Given the description of an element on the screen output the (x, y) to click on. 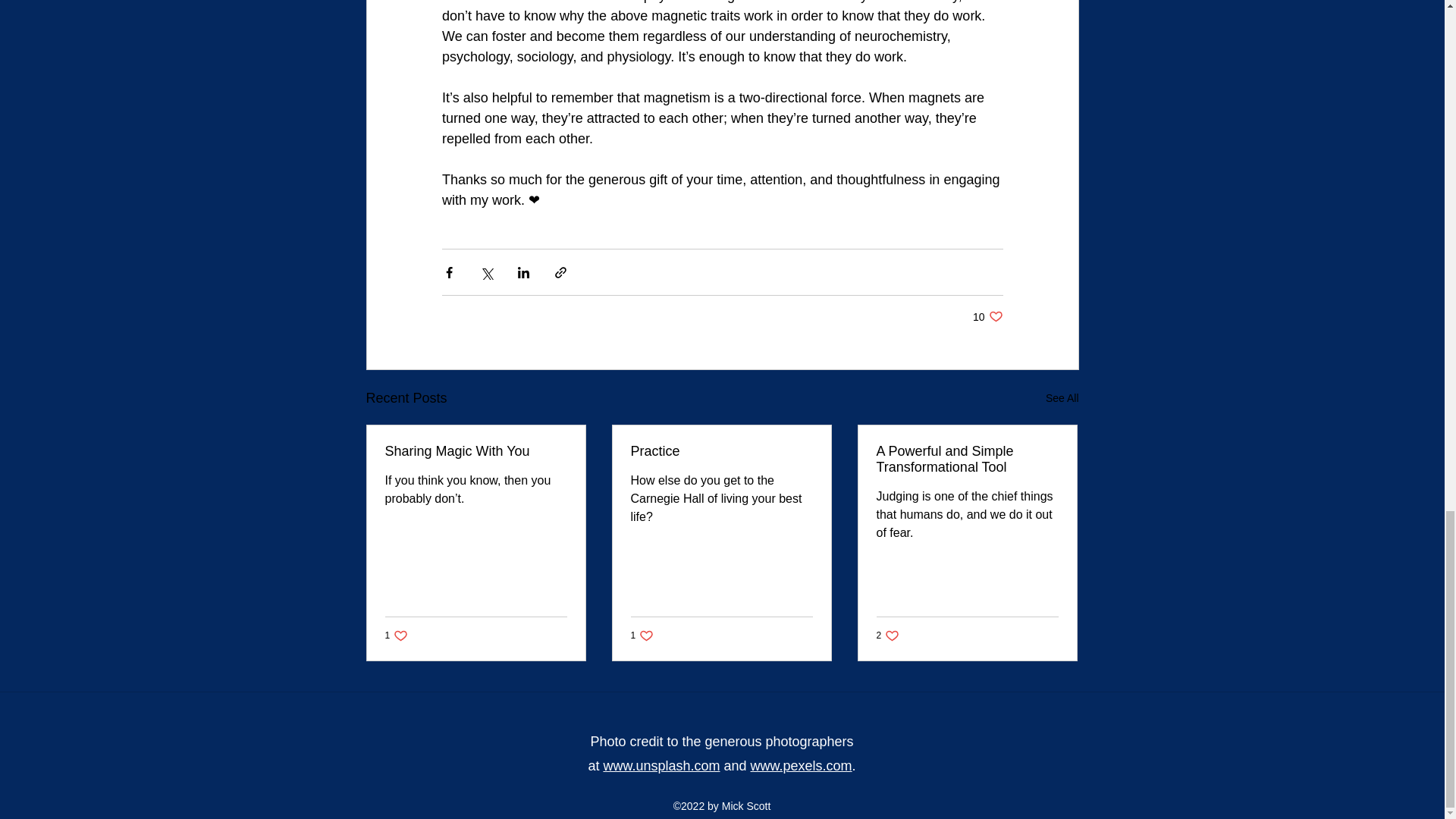
www.pexels.com (801, 765)
A Powerful and Simple Transformational Tool (967, 459)
www.unsplash.com (397, 635)
Practice (660, 765)
Sharing Magic With You (721, 451)
See All (476, 451)
